Given the description of an element on the screen output the (x, y) to click on. 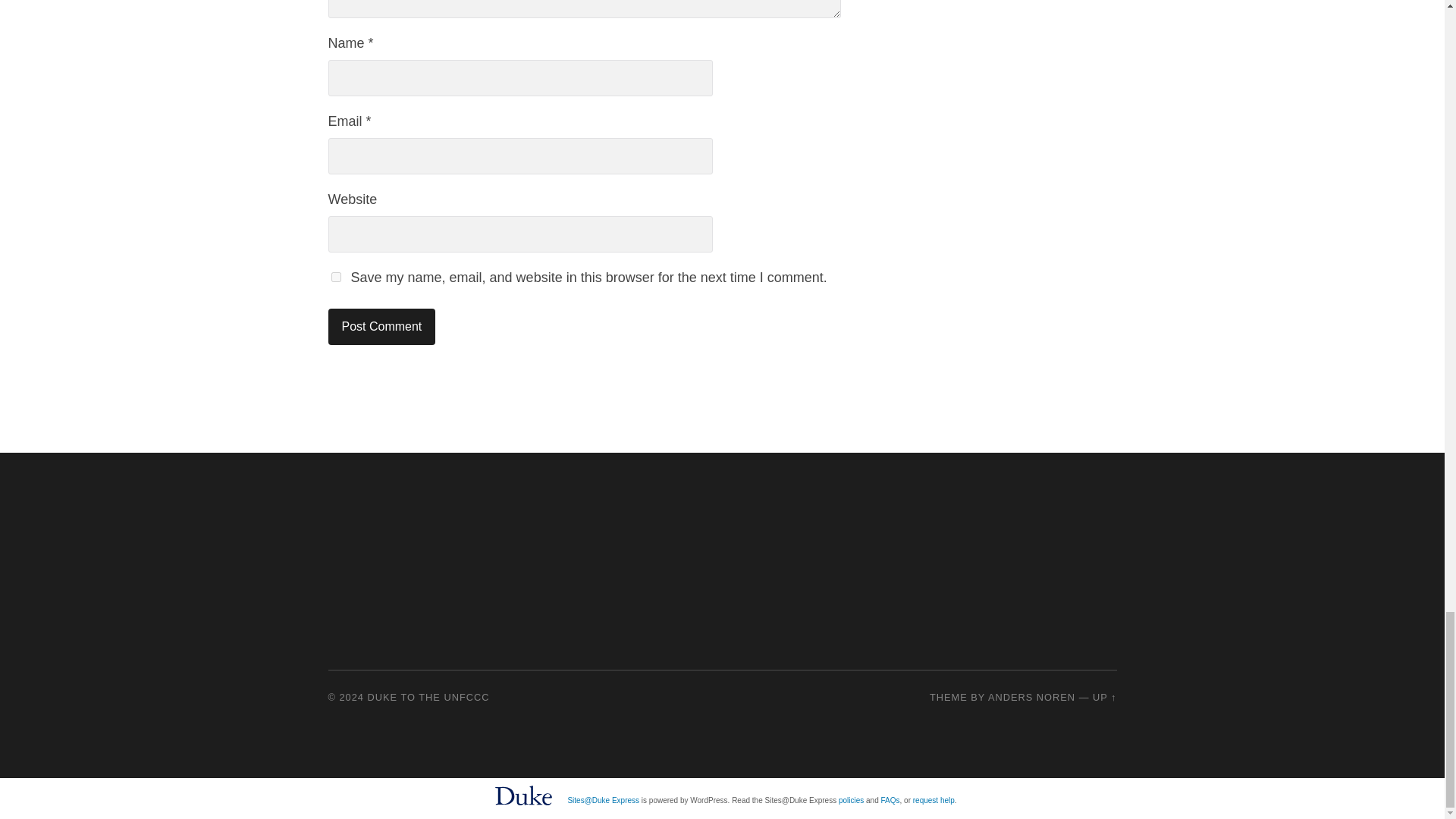
yes (335, 276)
Post Comment (381, 326)
To the top (1104, 696)
Post Comment (381, 326)
Visit Duke.edu (523, 807)
